Given the description of an element on the screen output the (x, y) to click on. 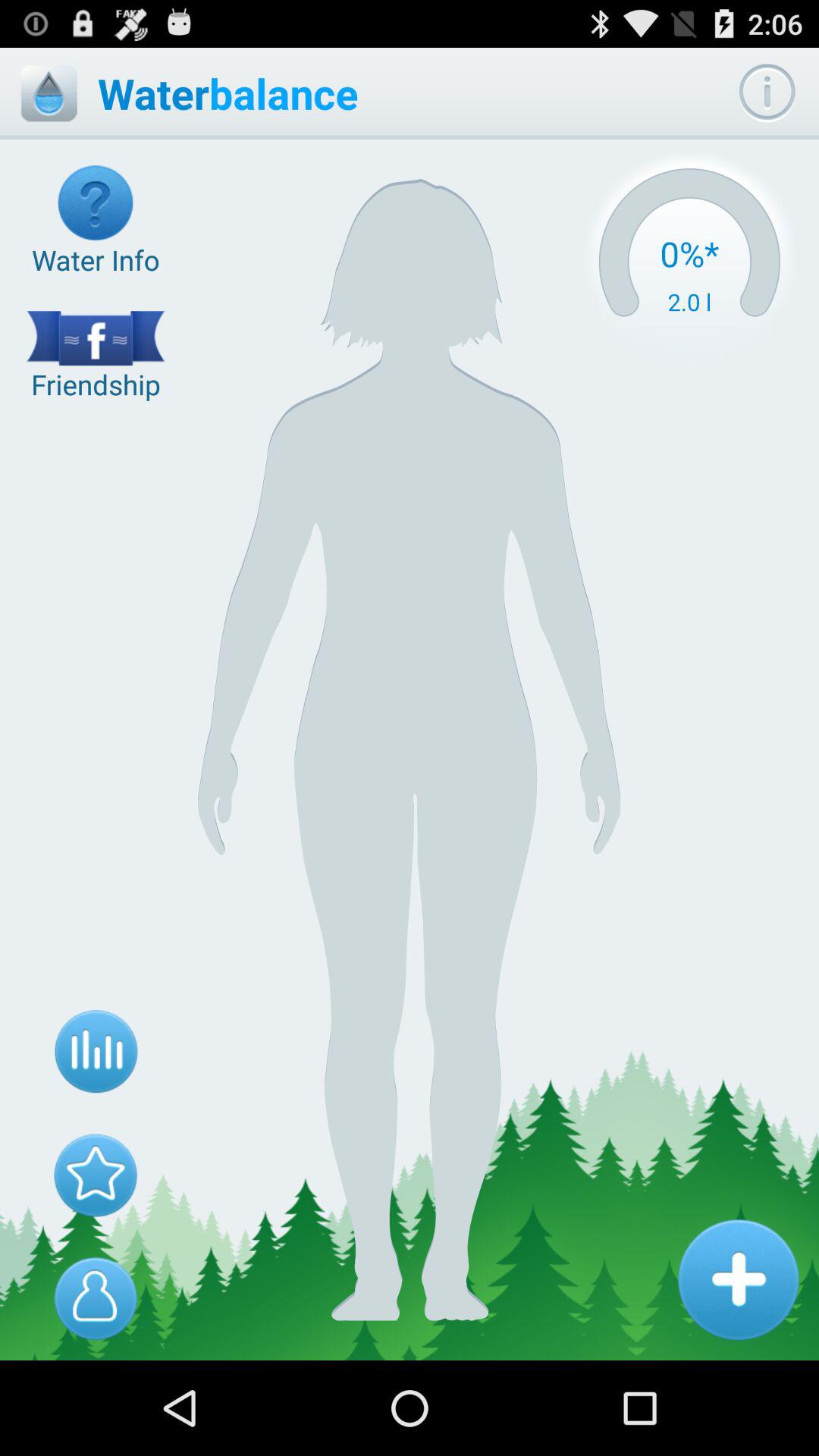
turn off item next to waterbalance (48, 93)
